Given the description of an element on the screen output the (x, y) to click on. 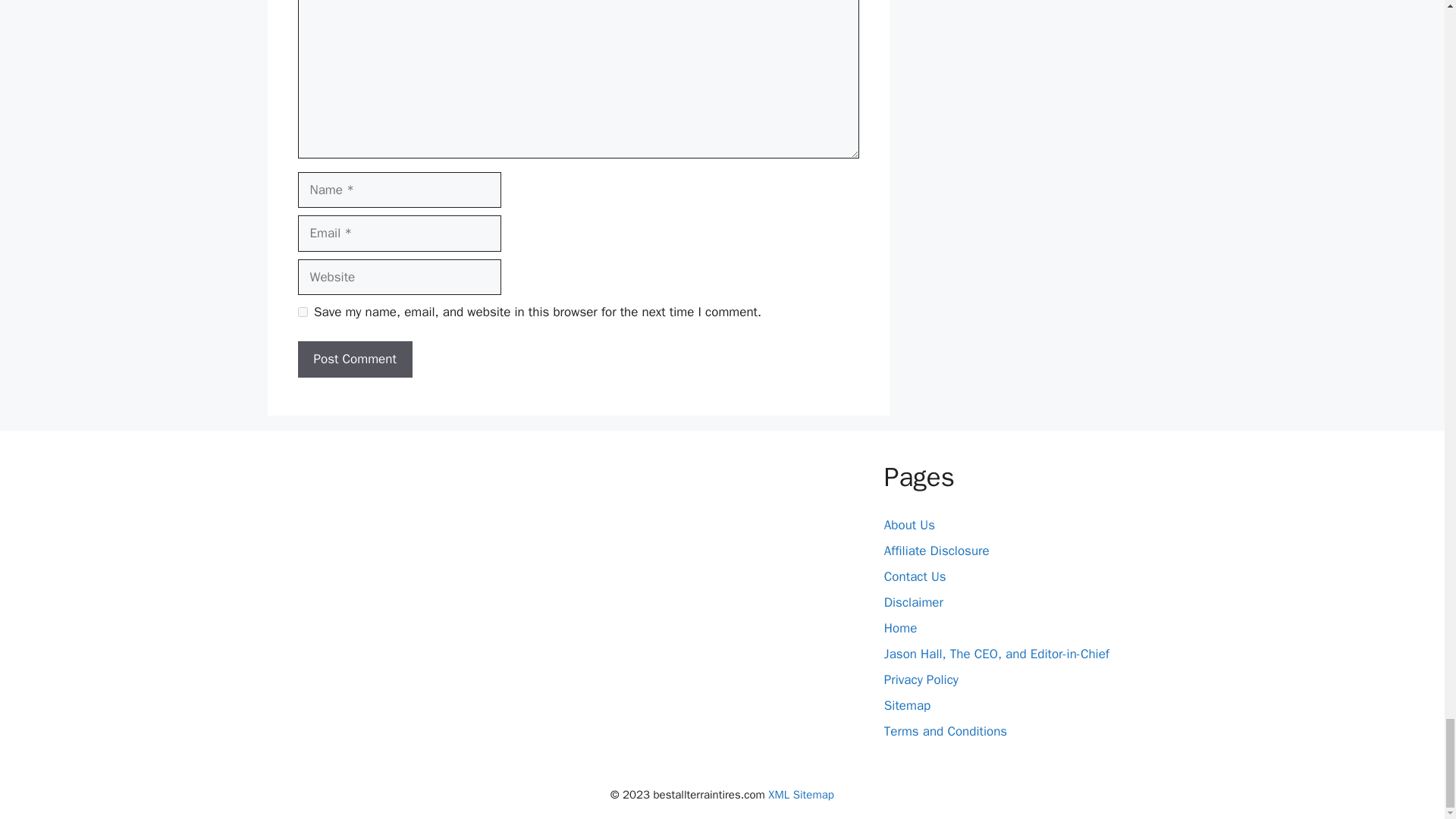
Post Comment (354, 359)
yes (302, 311)
